Given the description of an element on the screen output the (x, y) to click on. 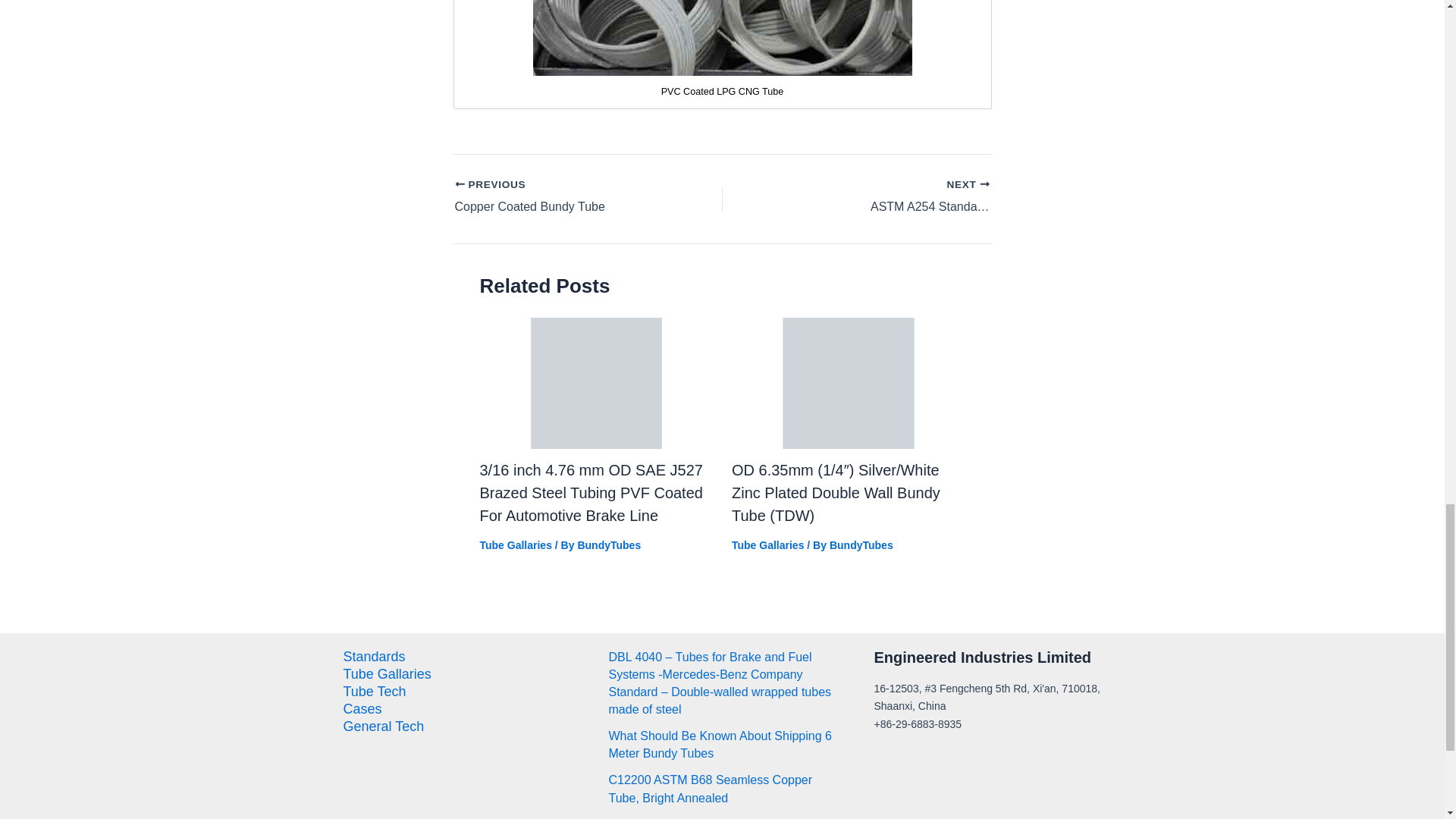
View all posts by BundyTubes (861, 544)
Copper Coated Bundy Tube (561, 197)
View all posts by BundyTubes (608, 544)
